Given the description of an element on the screen output the (x, y) to click on. 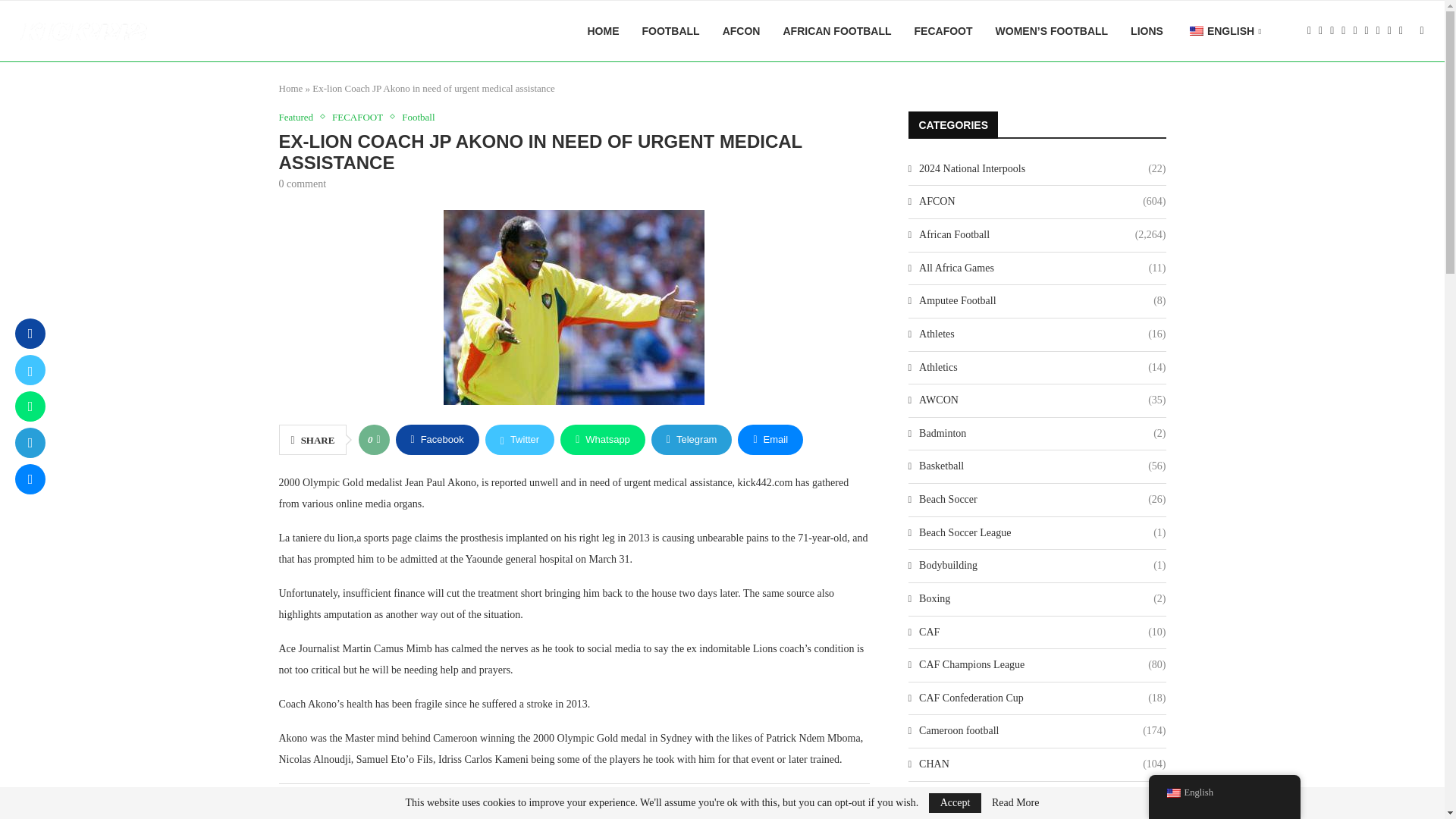
Whatsapp (602, 440)
Telegram (691, 440)
Twitter (519, 440)
ENGLISH (1224, 31)
AFRICAN FOOTBALL (837, 30)
English (1196, 31)
Featured (299, 117)
Email (770, 440)
Football (417, 117)
FECAFOOT (360, 117)
